Given the description of an element on the screen output the (x, y) to click on. 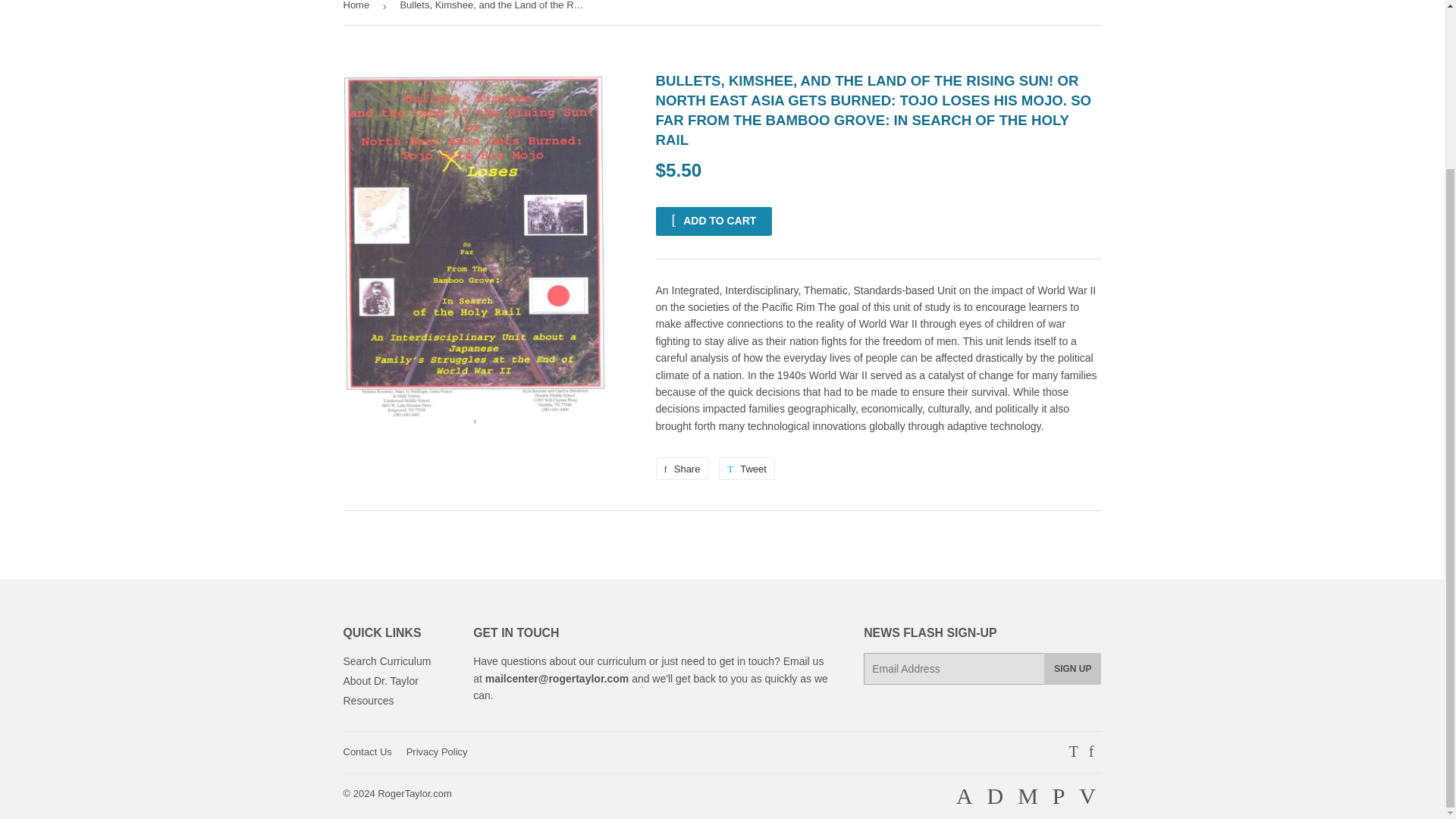
Resources (367, 700)
Back to the frontpage (358, 12)
Search Curriculum (386, 661)
Home (358, 12)
About Dr. Taylor (379, 680)
ADD TO CART (746, 468)
Contact Us (681, 468)
Tweet on Twitter (713, 221)
